Given the description of an element on the screen output the (x, y) to click on. 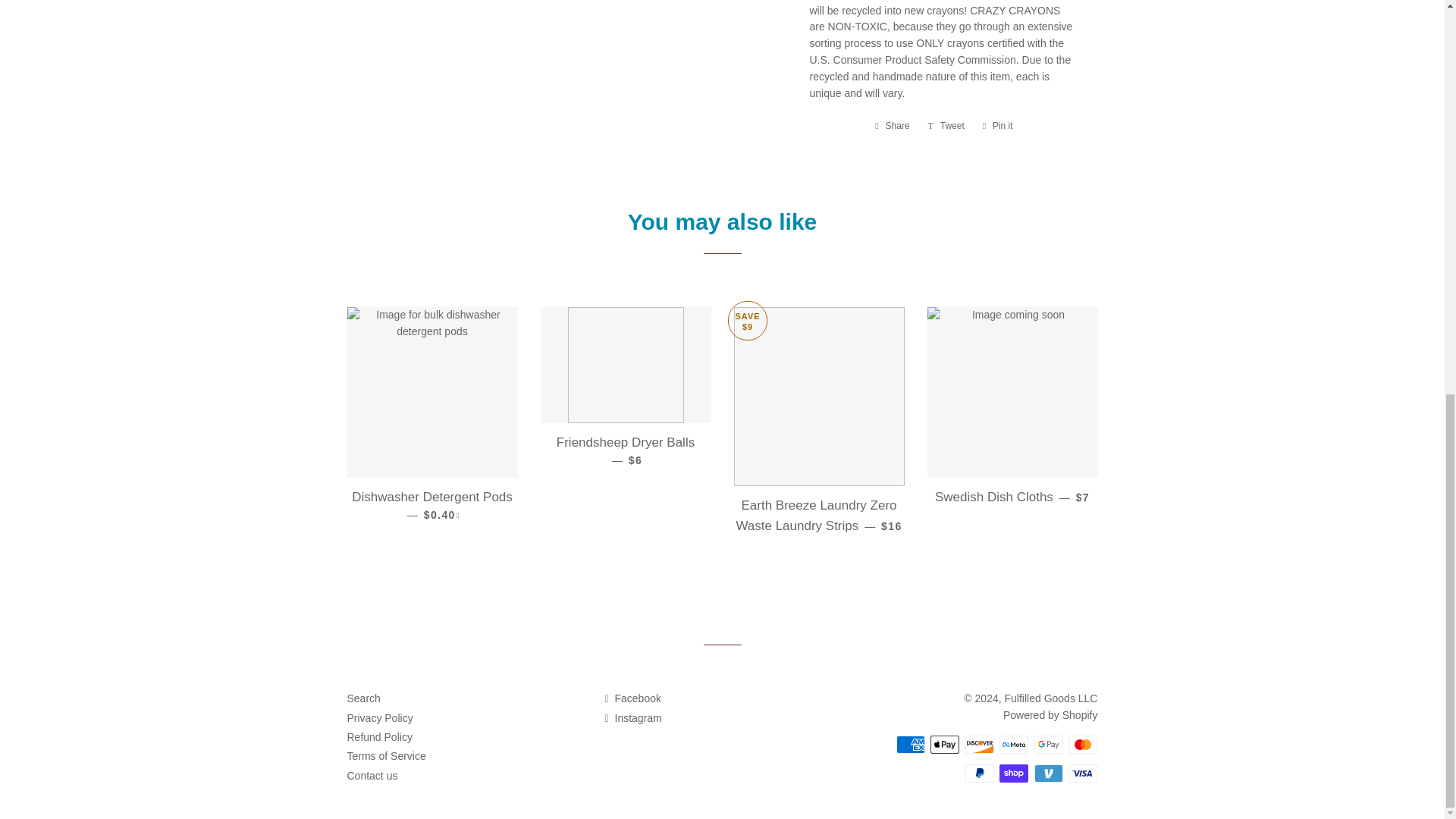
Google Pay (1047, 744)
Fulfilled Goods LLC on Facebook (632, 698)
Discover (979, 744)
Meta Pay (1012, 744)
Tweet on Twitter (946, 125)
Shop Pay (1012, 773)
Apple Pay (944, 744)
Visa (1082, 773)
PayPal (979, 773)
Fulfilled Goods LLC on Instagram (632, 717)
